Given the description of an element on the screen output the (x, y) to click on. 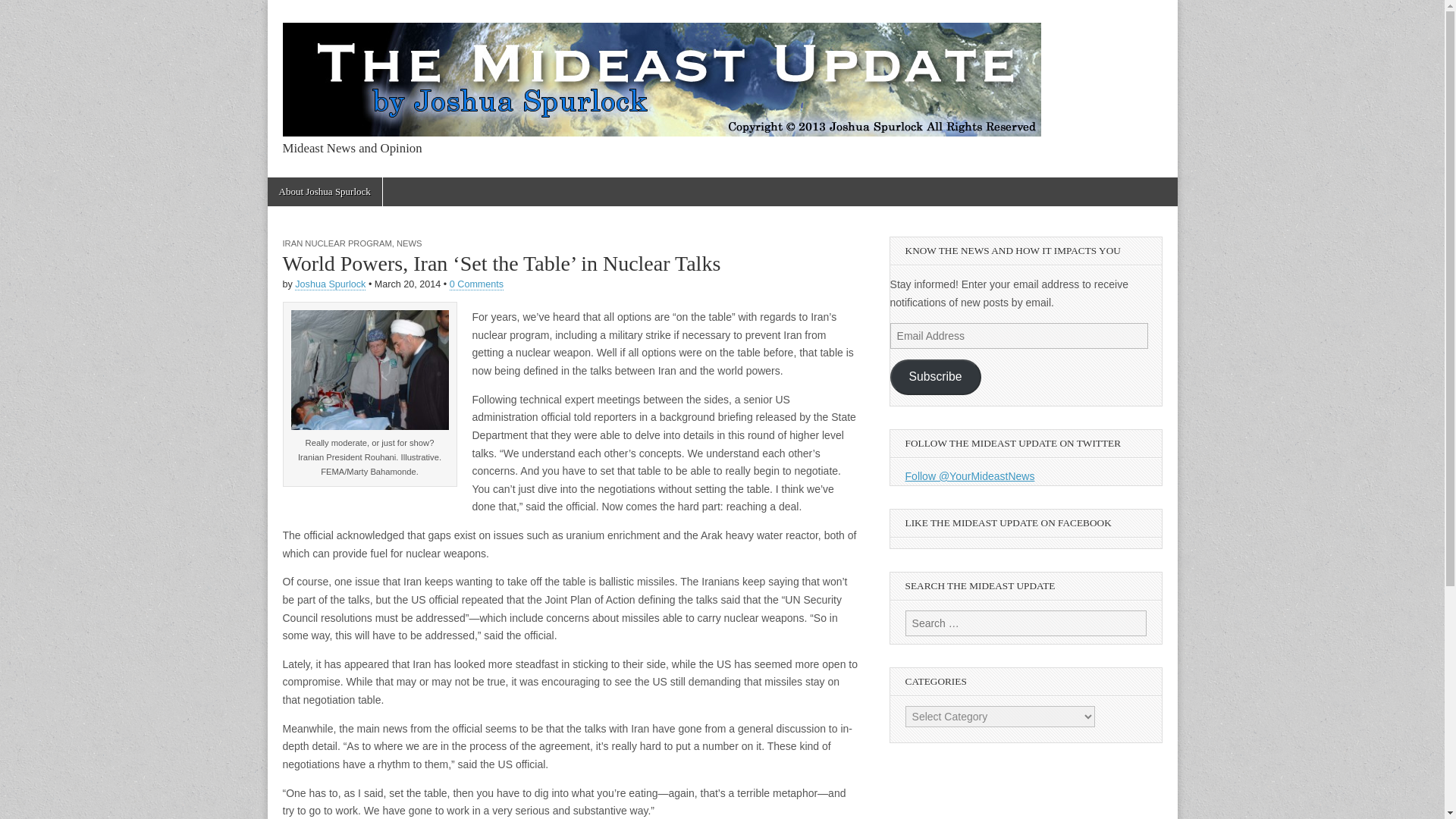
NEWS (409, 243)
About Joshua Spurlock (323, 191)
IRAN NUCLEAR PROGRAM (336, 243)
Search (23, 12)
Subscribe (935, 376)
The Mideast Update (430, 182)
0 Comments (476, 284)
Posts by Joshua Spurlock (330, 284)
The Mideast Update (660, 71)
